Given the description of an element on the screen output the (x, y) to click on. 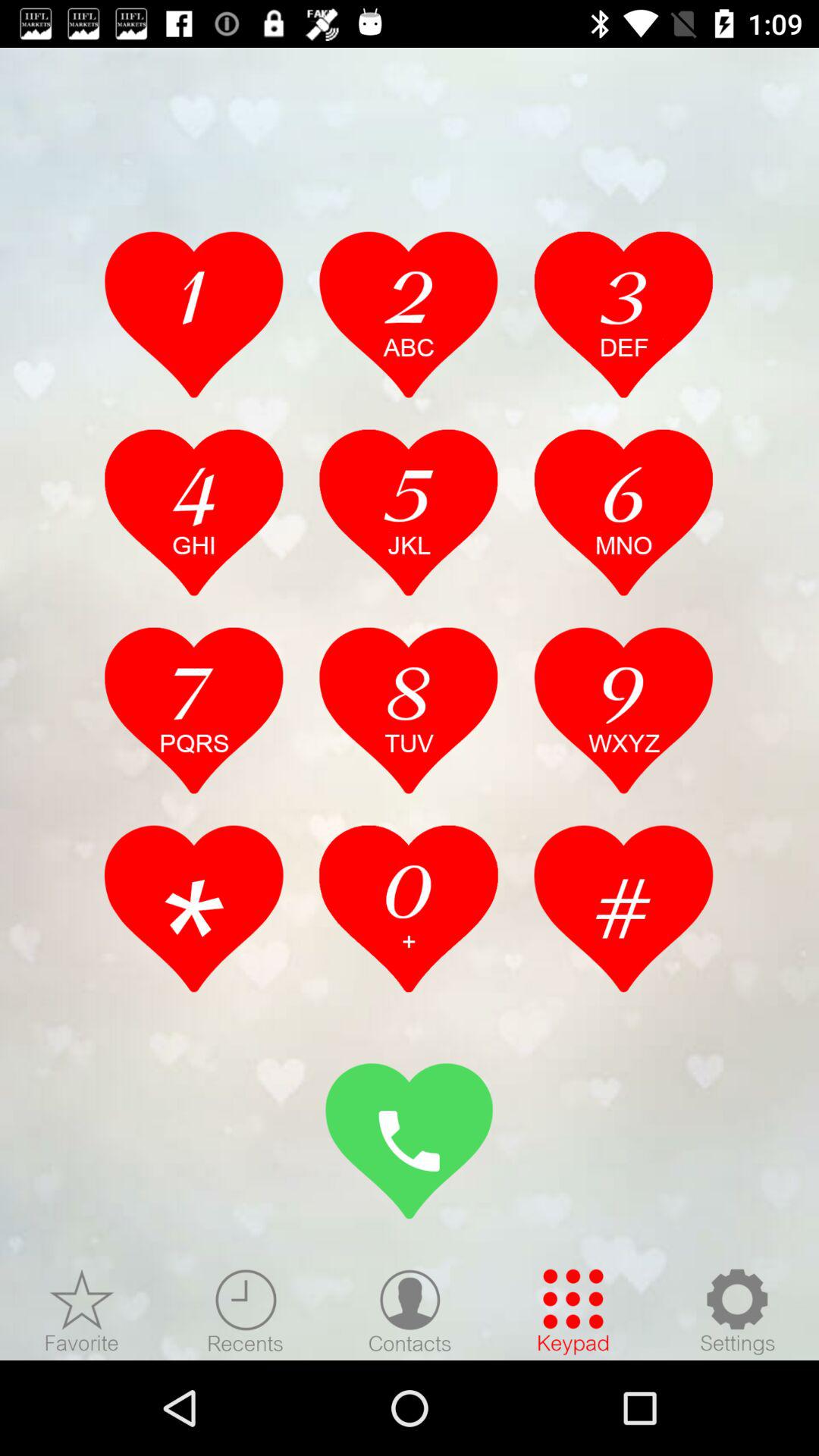
open settings (737, 1311)
